Given the description of an element on the screen output the (x, y) to click on. 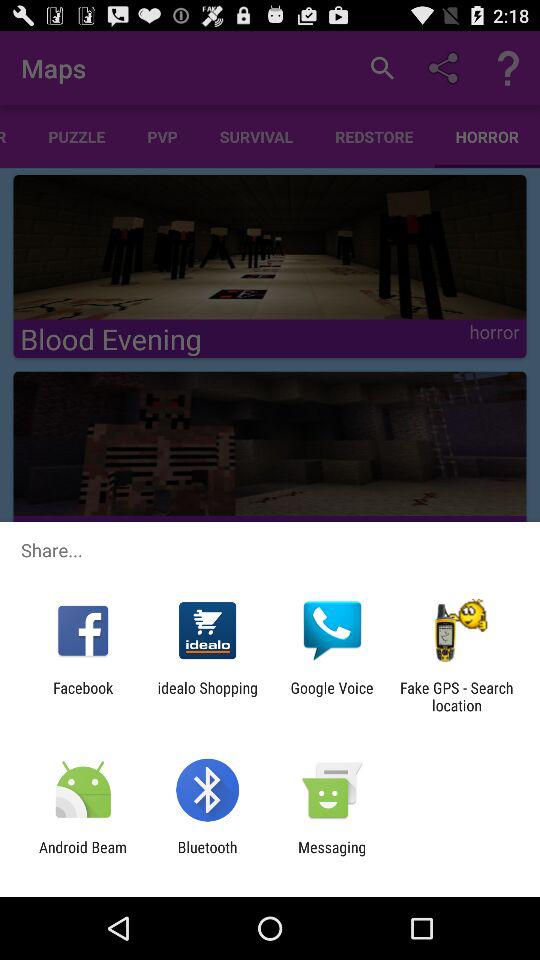
choose the icon to the left of the idealo shopping (83, 696)
